Given the description of an element on the screen output the (x, y) to click on. 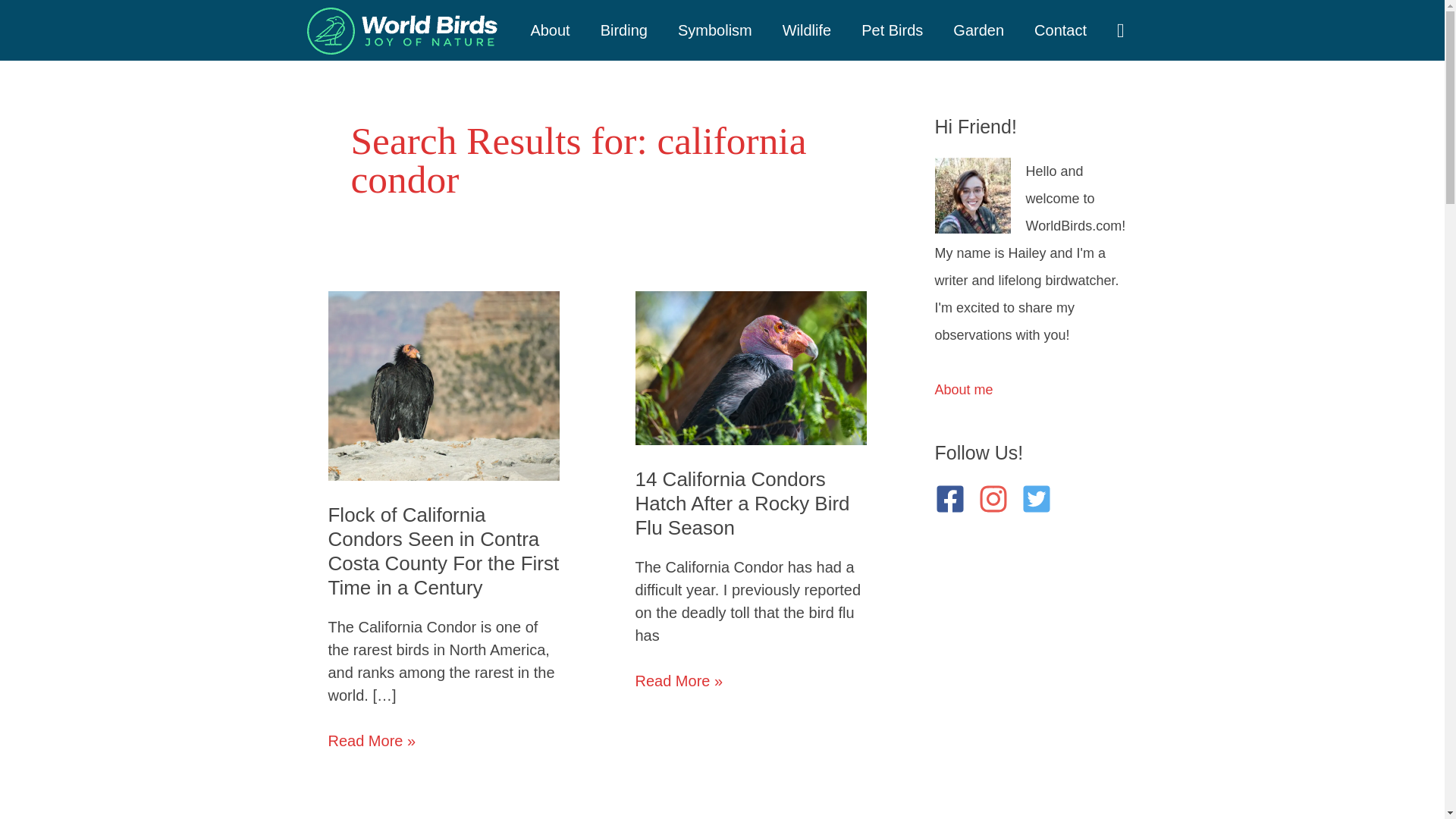
14 California Condors Hatch After a Rocky Bird Flu Season (742, 502)
Wildlife (806, 30)
Symbolism (714, 30)
Pet Birds (891, 30)
Birding (623, 30)
Contact (1060, 30)
Garden (978, 30)
About (550, 30)
